Given the description of an element on the screen output the (x, y) to click on. 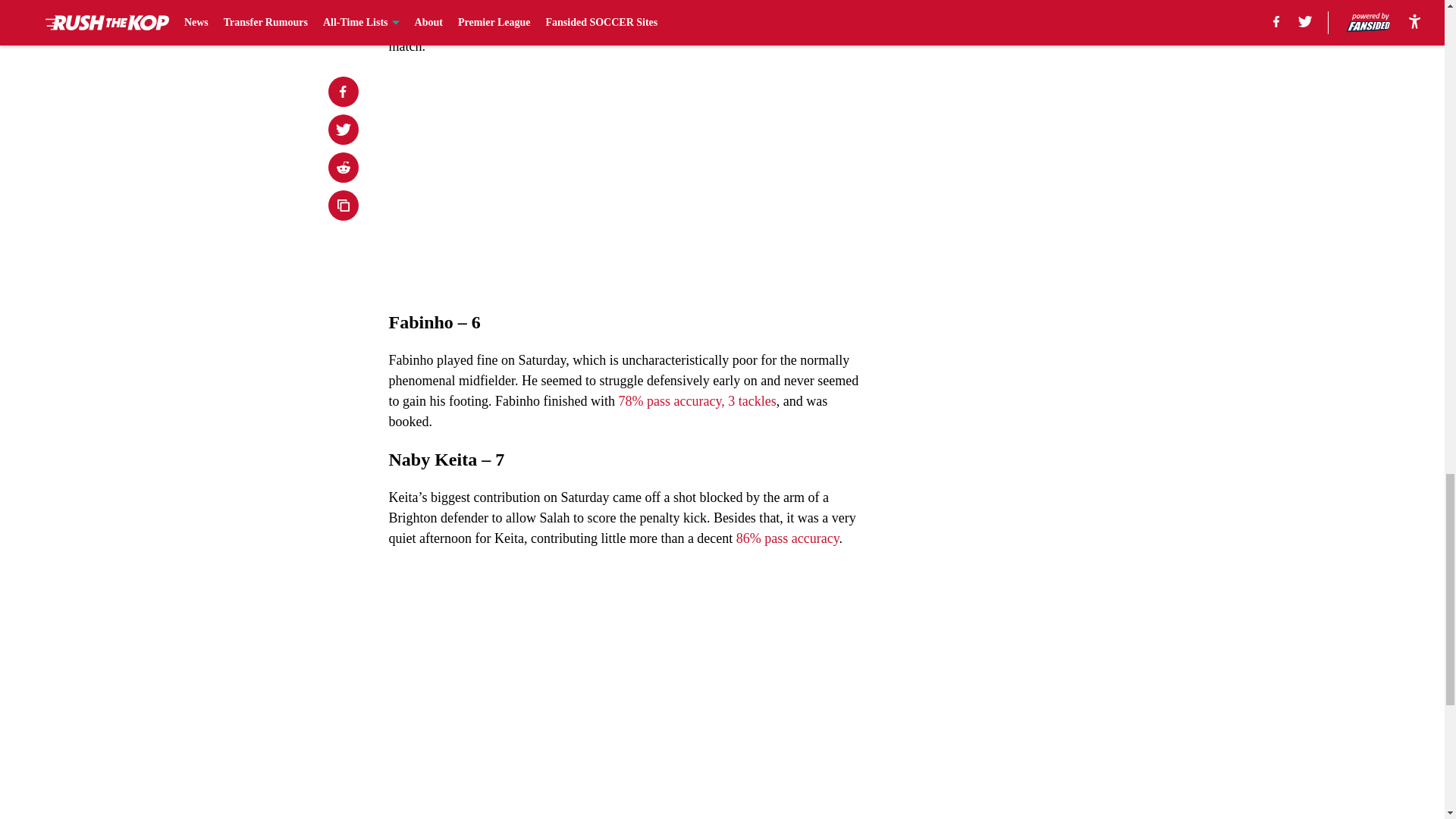
wo tackles, one interception, and one clearance (700, 6)
